Given the description of an element on the screen output the (x, y) to click on. 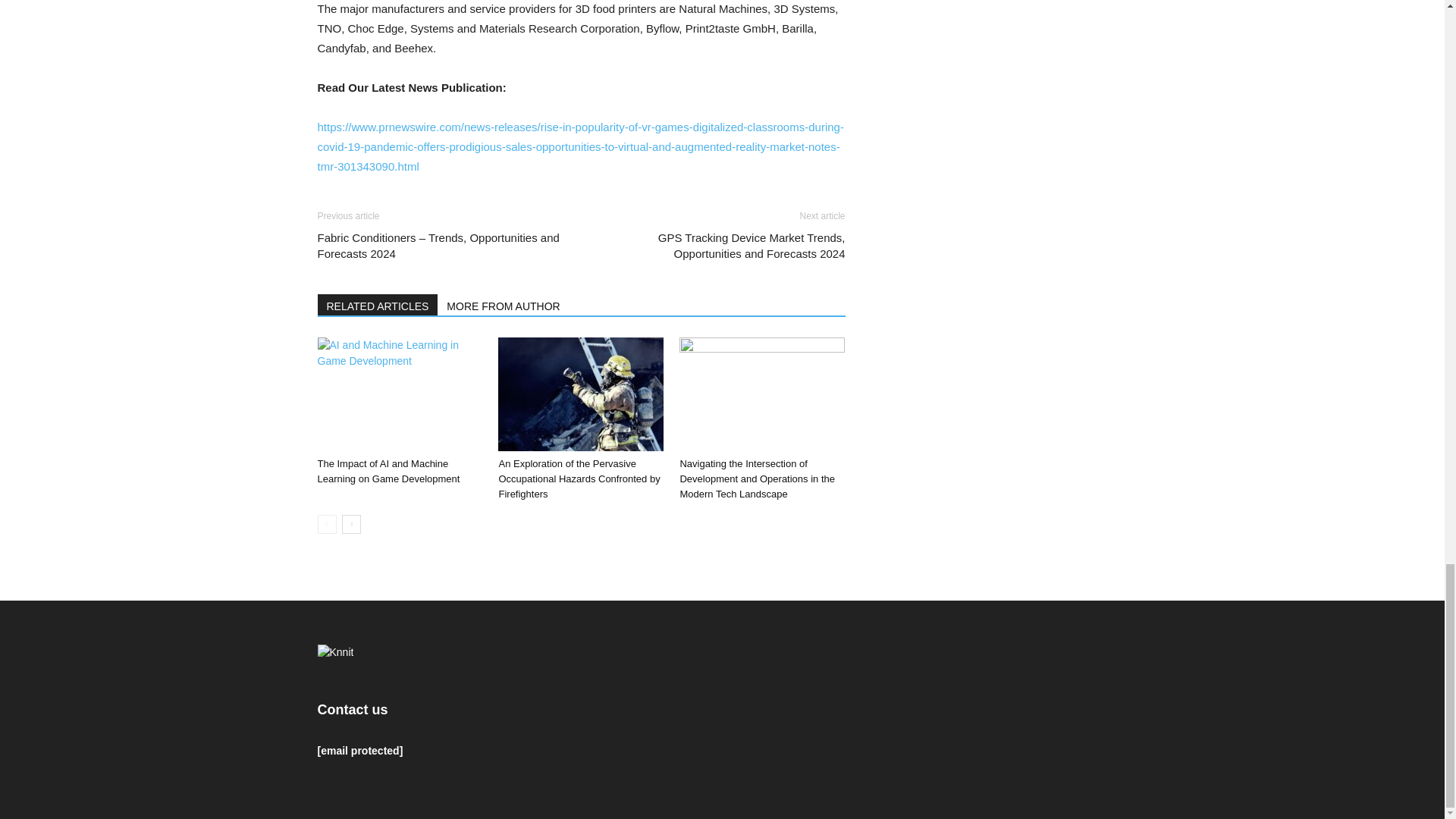
RELATED ARTICLES (377, 304)
The Impact of AI and Machine Learning on Game Development (399, 394)
The Impact of AI and Machine Learning on Game Development (388, 470)
